Given the description of an element on the screen output the (x, y) to click on. 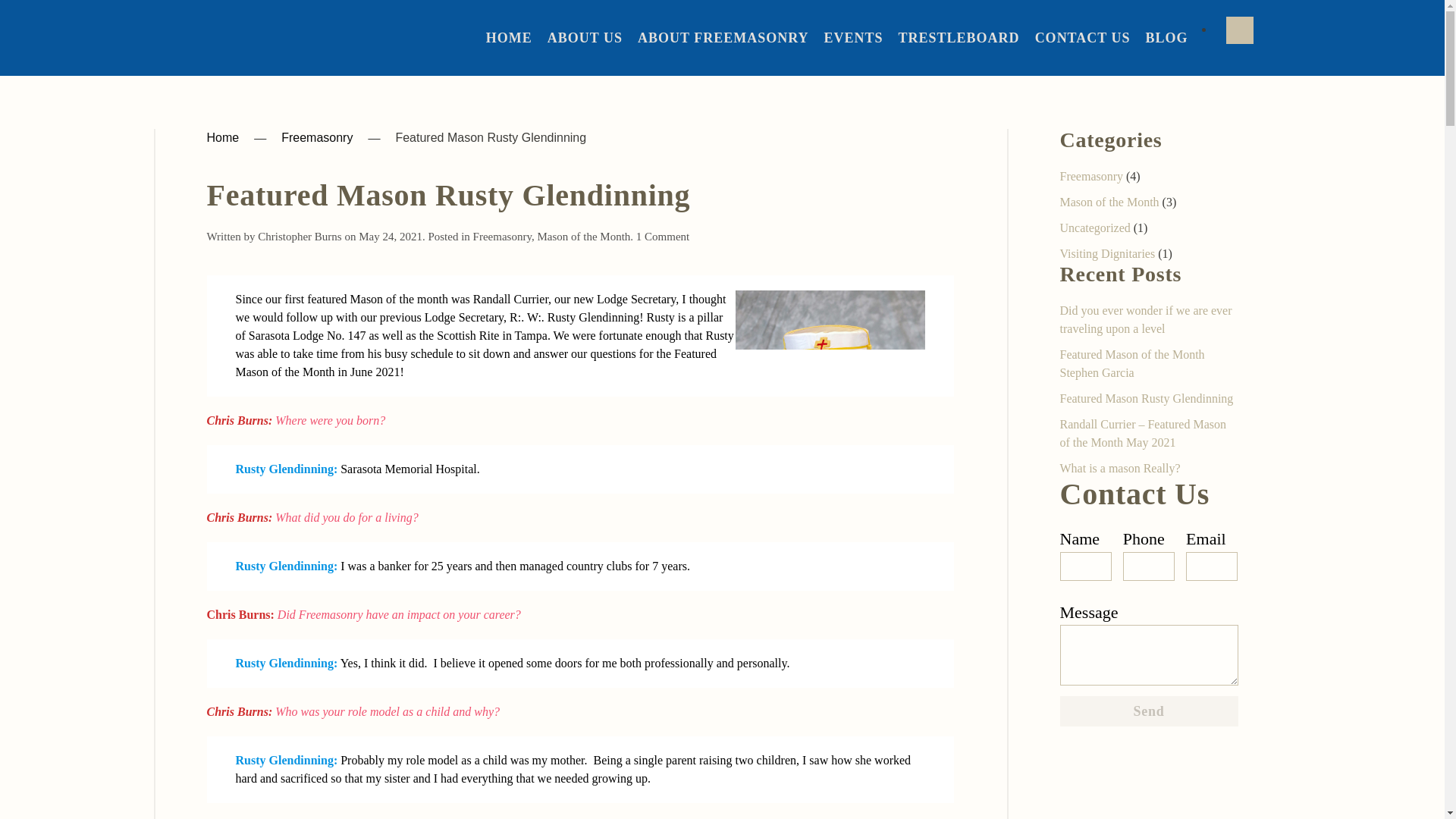
EVENTS (853, 38)
ABOUT US (585, 38)
Sarasota Lodge No. 147 (585, 38)
CONTACT US (1082, 38)
TRESTLEBOARD (959, 38)
ABOUT FREEMASONRY (723, 38)
Send (1149, 711)
Home (222, 137)
